Given the description of an element on the screen output the (x, y) to click on. 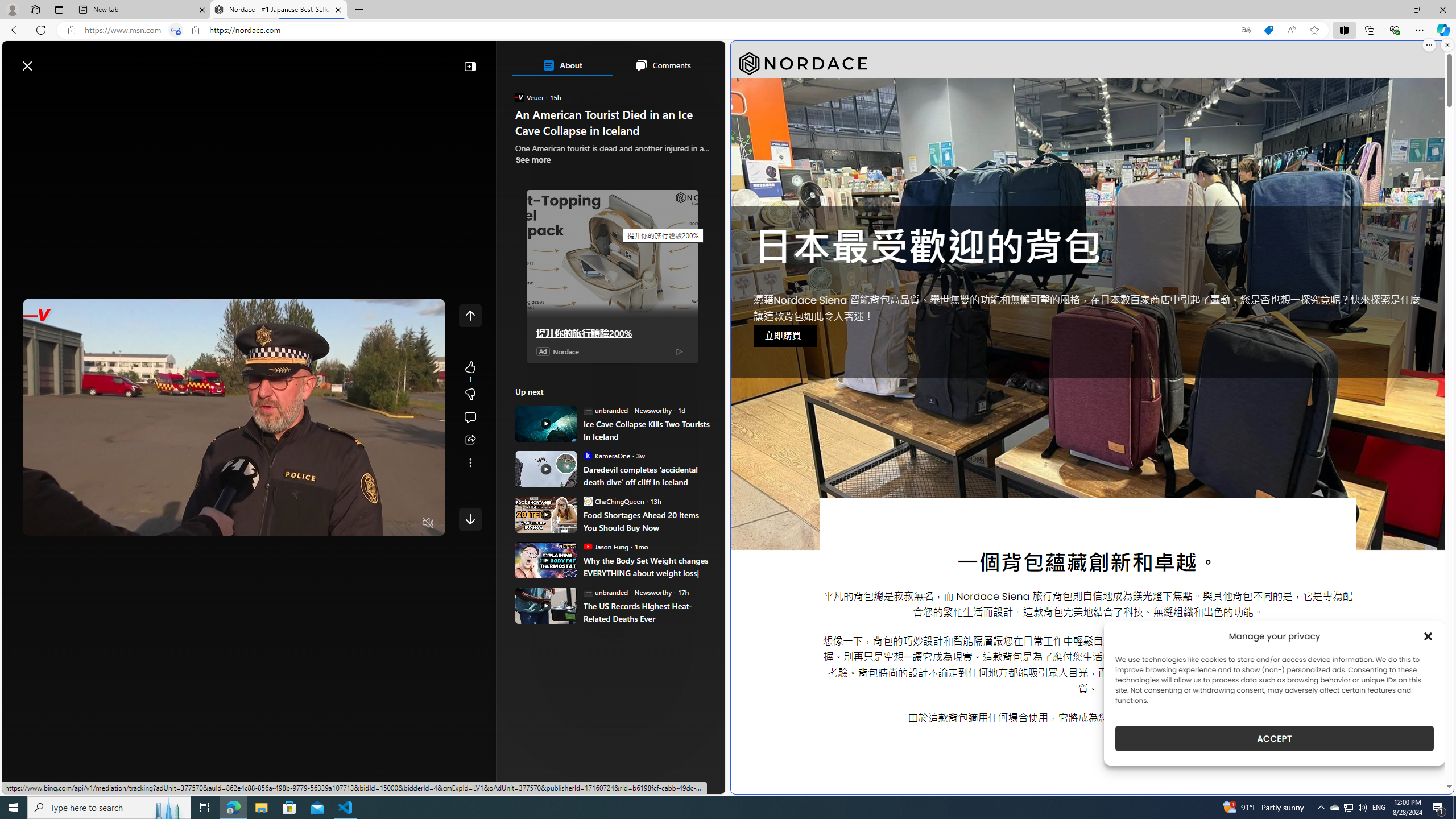
Veuer (519, 96)
Open settings (699, 60)
Unmute (427, 523)
Skip to content (49, 59)
Close split screen. (1447, 45)
More like this1Fewer like thisStart the conversation (469, 394)
Microsoft rewards (654, 60)
Read aloud this page (Ctrl+Shift+U) (1291, 29)
Class: button-glyph (16, 92)
